Given the description of an element on the screen output the (x, y) to click on. 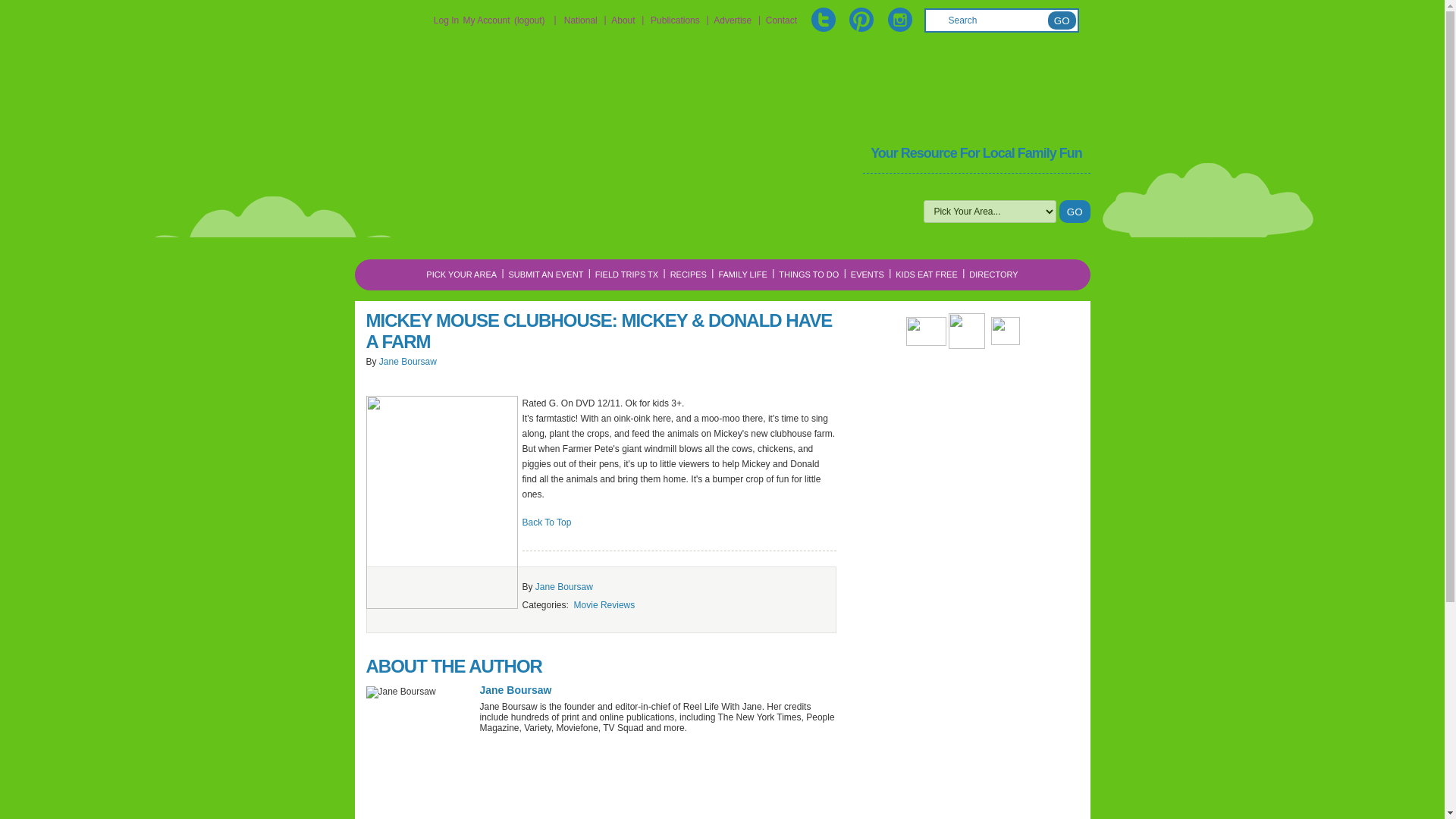
Go (1074, 210)
Publications (675, 20)
Go (1074, 210)
Advertise (732, 20)
My Account (487, 20)
Go (1061, 20)
SUBMIT AN EVENT (546, 274)
Go (1061, 20)
Contact (780, 20)
Log In (445, 20)
FIELD TRIPS TX (626, 274)
About (622, 20)
National (580, 20)
PICK YOUR AREA (461, 274)
RECIPES (688, 274)
